Given the description of an element on the screen output the (x, y) to click on. 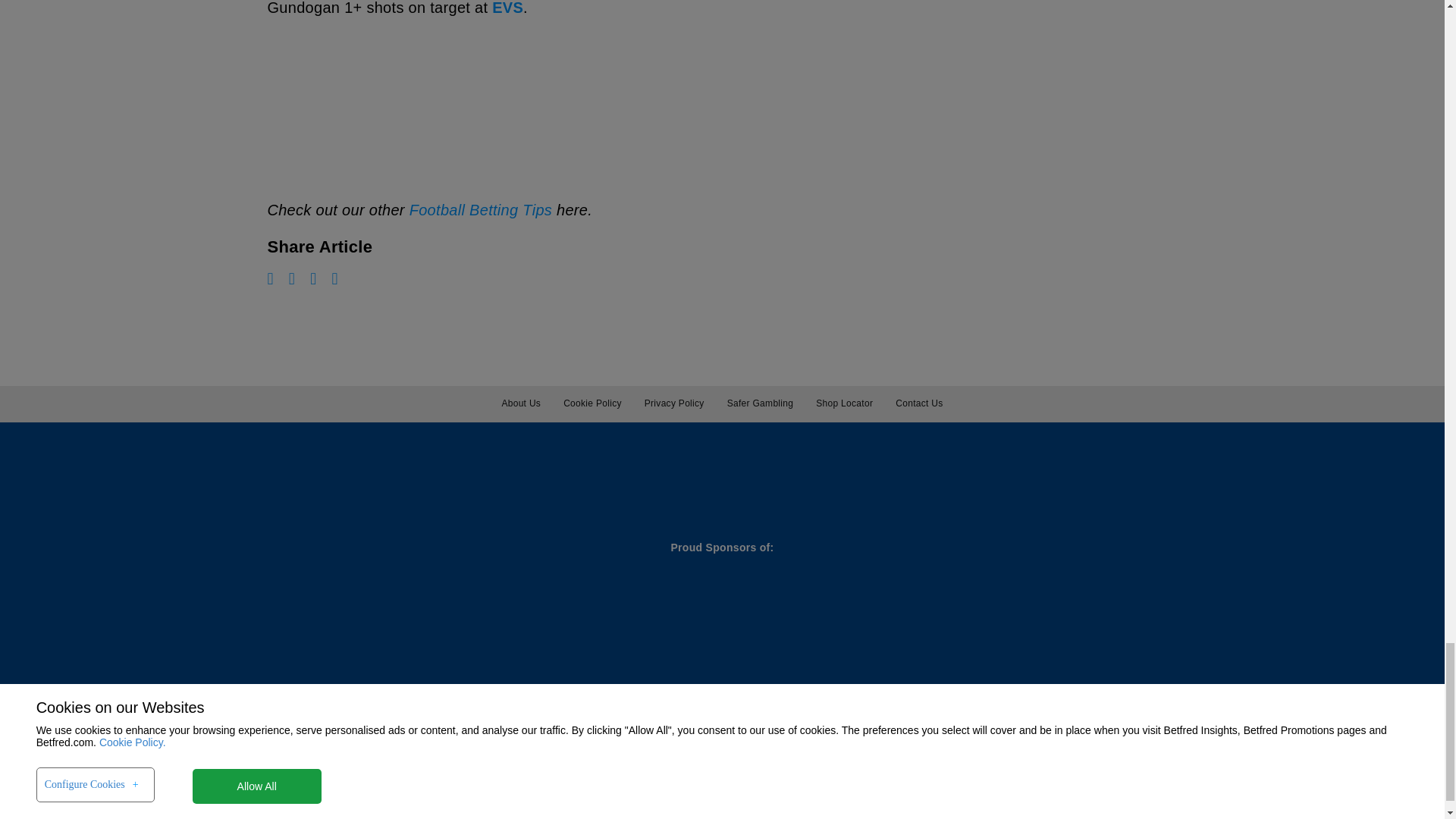
betfred sponsorship rgb footer world matchplay (175, 608)
betfred sponsorship rgb footer man utd (363, 608)
